Given the description of an element on the screen output the (x, y) to click on. 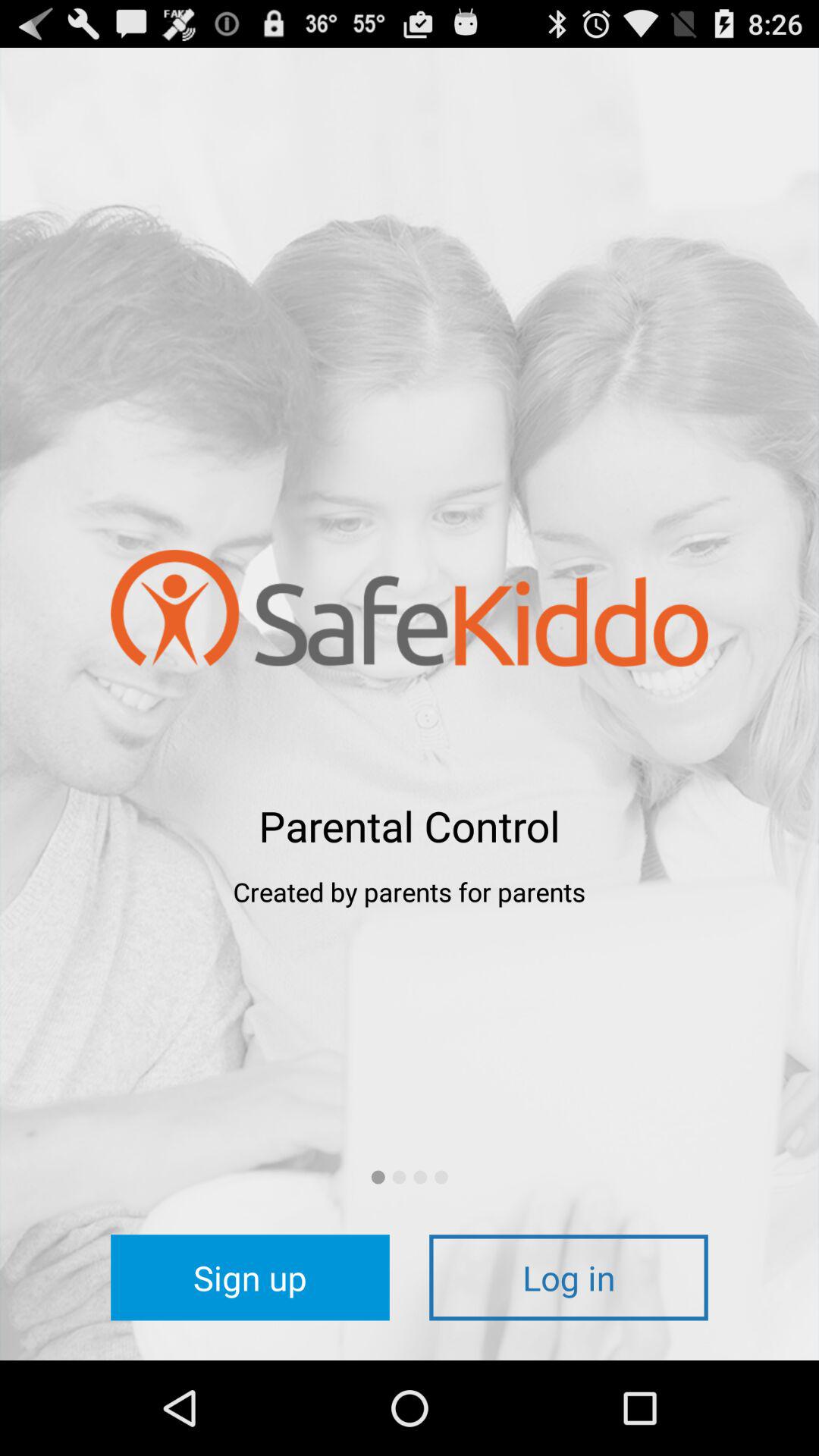
launch the sign up item (249, 1277)
